Given the description of an element on the screen output the (x, y) to click on. 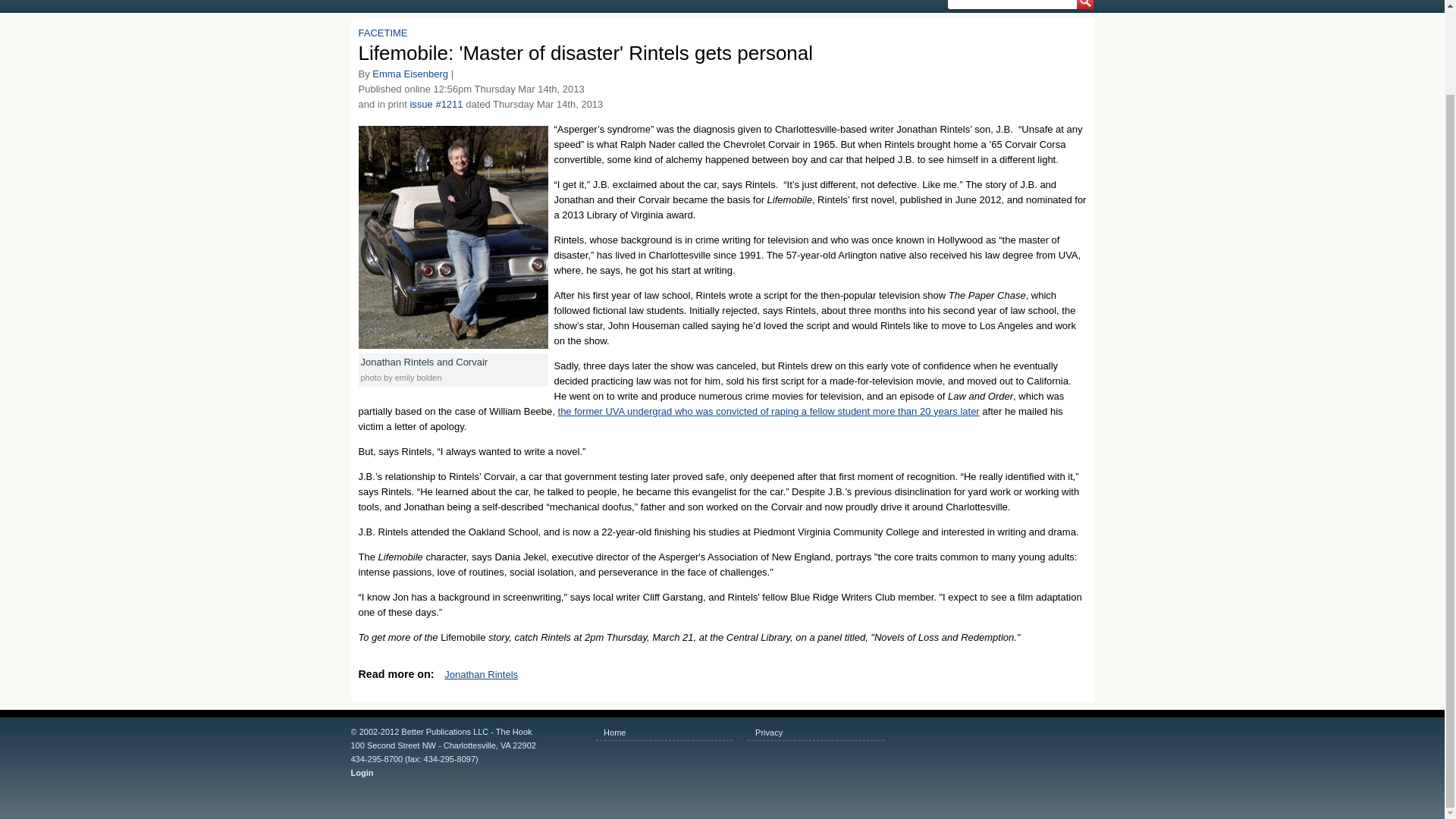
Jonathan Rintels (481, 674)
Emma Eisenberg (410, 73)
Search (1082, 7)
Home (663, 732)
Search (1082, 7)
Privacy (815, 732)
Enter the terms you wish to search for. (1019, 4)
Login (469, 772)
FACETIME (382, 32)
